Given the description of an element on the screen output the (x, y) to click on. 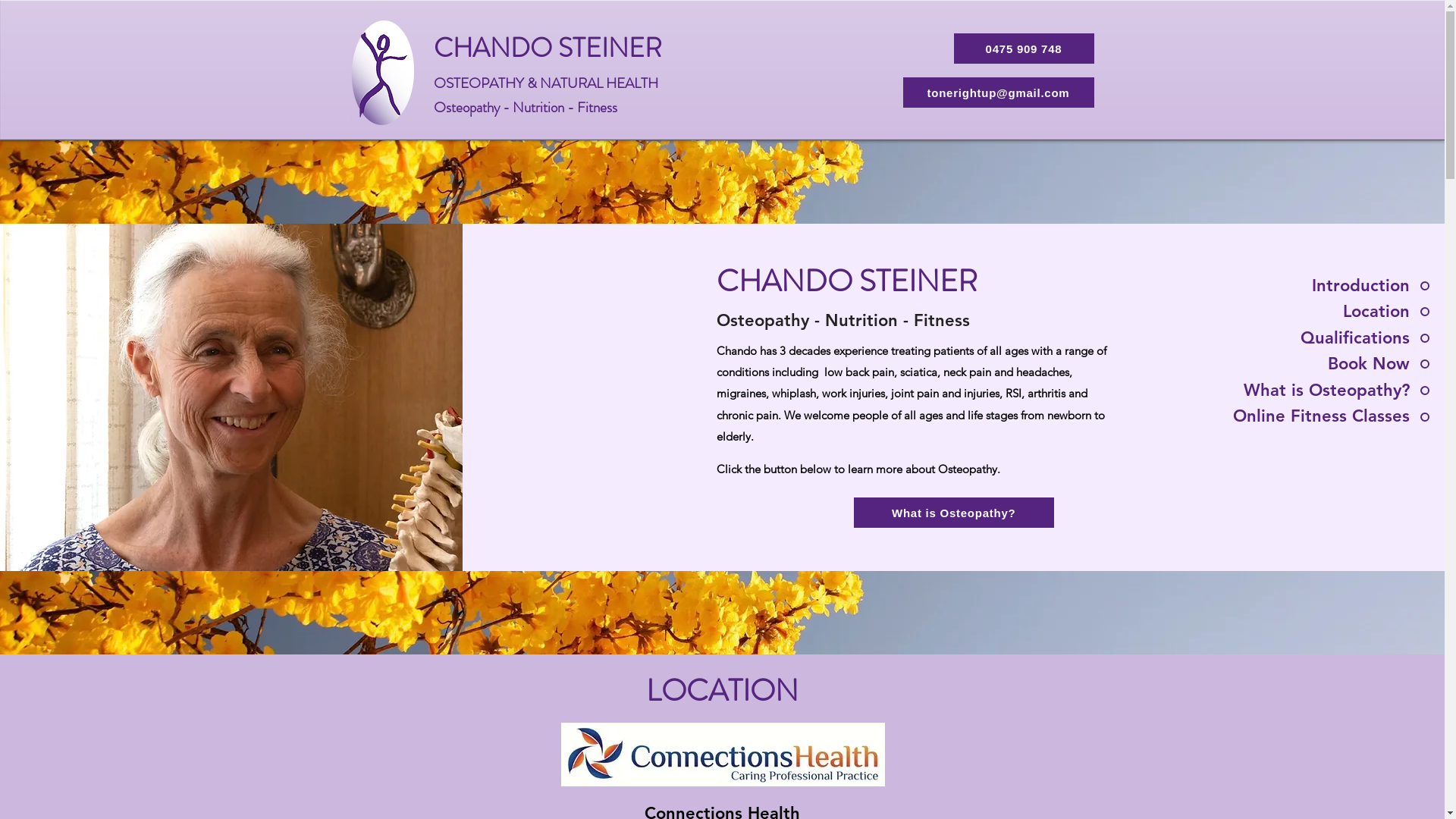
Introduction Element type: text (1327, 285)
Qualifications Element type: text (1327, 338)
tonerightup@gmail.com Element type: text (997, 92)
Book Now Element type: text (1327, 363)
What is Osteopathy? Element type: text (953, 512)
Location Element type: text (1327, 311)
Online Fitness Classes Element type: text (1327, 416)
What is Osteopathy? Element type: text (1327, 390)
0475 909 748 Element type: text (1023, 48)
